Given the description of an element on the screen output the (x, y) to click on. 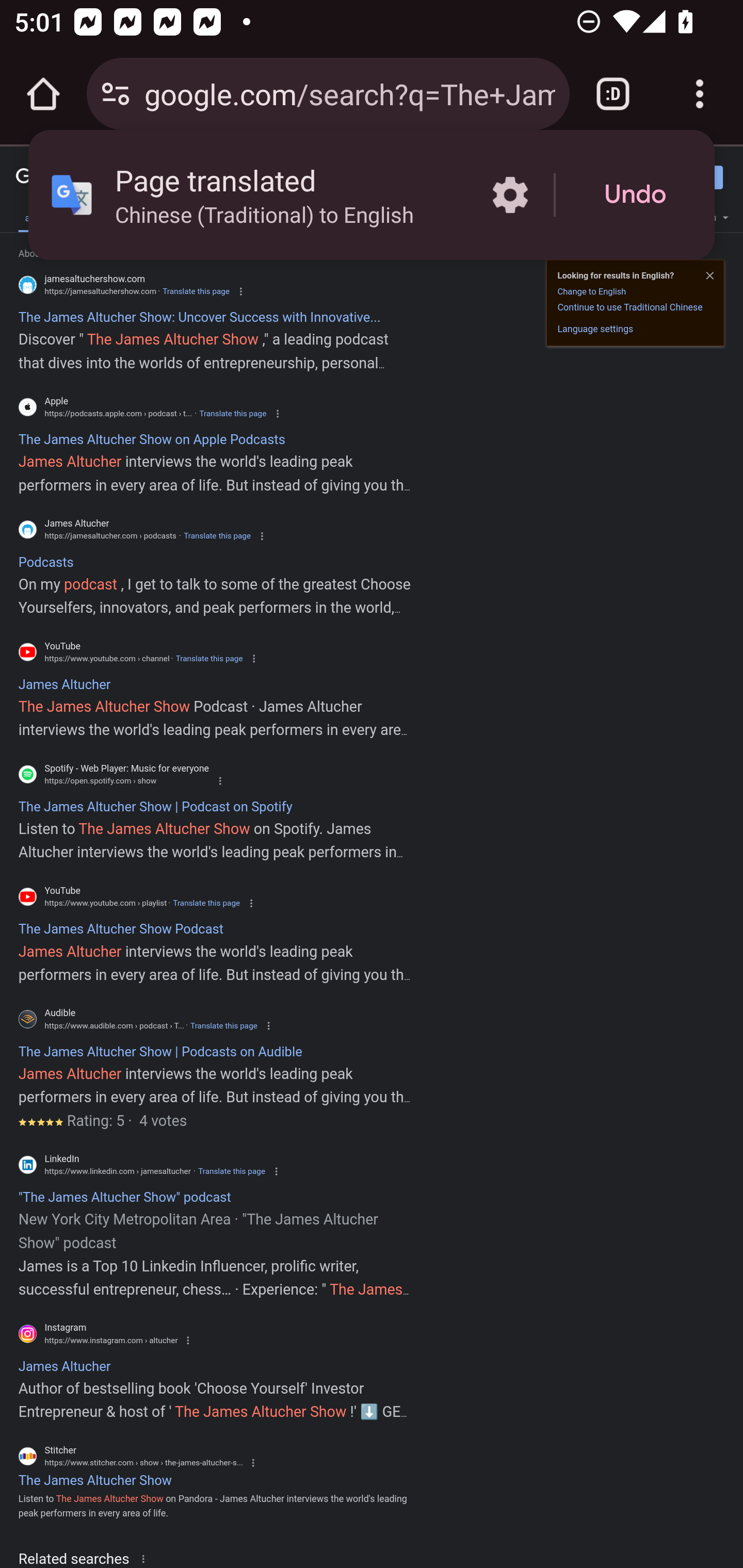
Open the home page (43, 93)
Connection is secure (115, 93)
Switch or close tabs (612, 93)
Customize and control Google Chrome (699, 93)
Undo (634, 195)
More options in the Page translated (509, 195)
Translate this page (195, 291)
Change to English (591, 291)
Language settings (595, 328)
Translate this page (232, 413)
Translate this page (217, 535)
Translate this page (208, 658)
Translate this page (206, 902)
Translate this page (223, 1025)
Translate this page (231, 1171)
About this result (146, 1557)
